Given the description of an element on the screen output the (x, y) to click on. 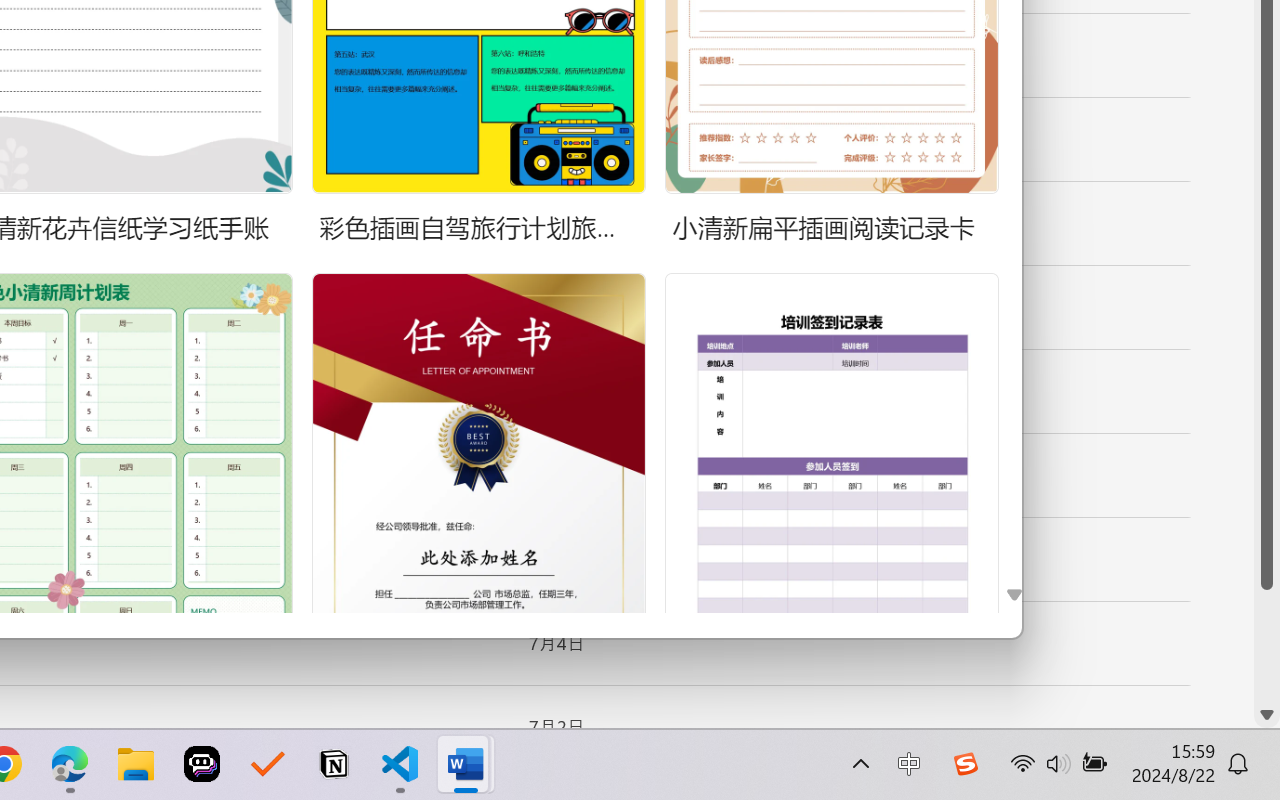
Zoom 214% (1234, 743)
